Given the description of an element on the screen output the (x, y) to click on. 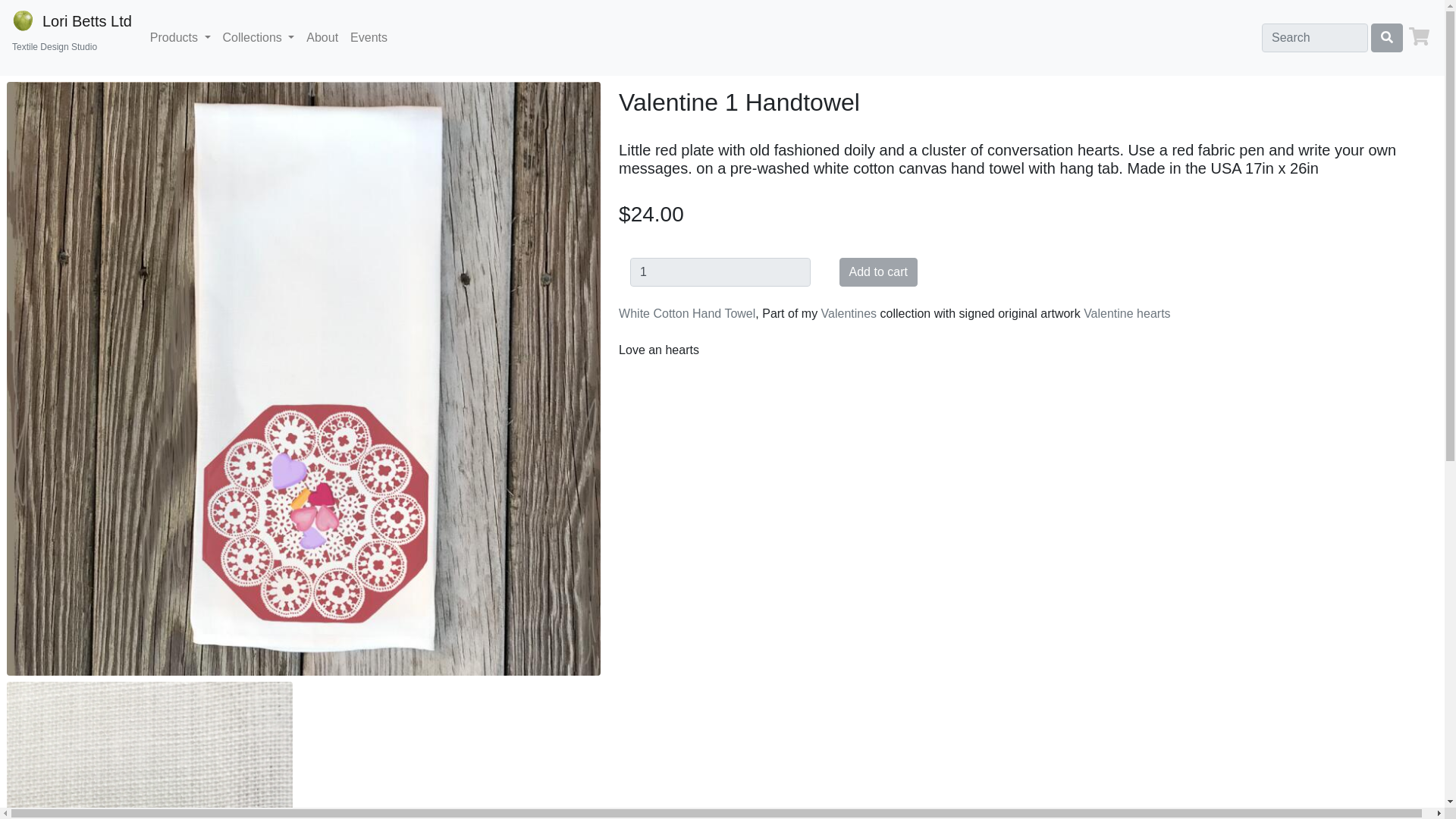
Valentines (849, 313)
Products (180, 37)
About (321, 37)
White Cotton Hand Towel (686, 313)
Add to cart (71, 37)
Collections (878, 271)
Valentine hearts (258, 37)
Events (1126, 313)
1 (368, 37)
